Given the description of an element on the screen output the (x, y) to click on. 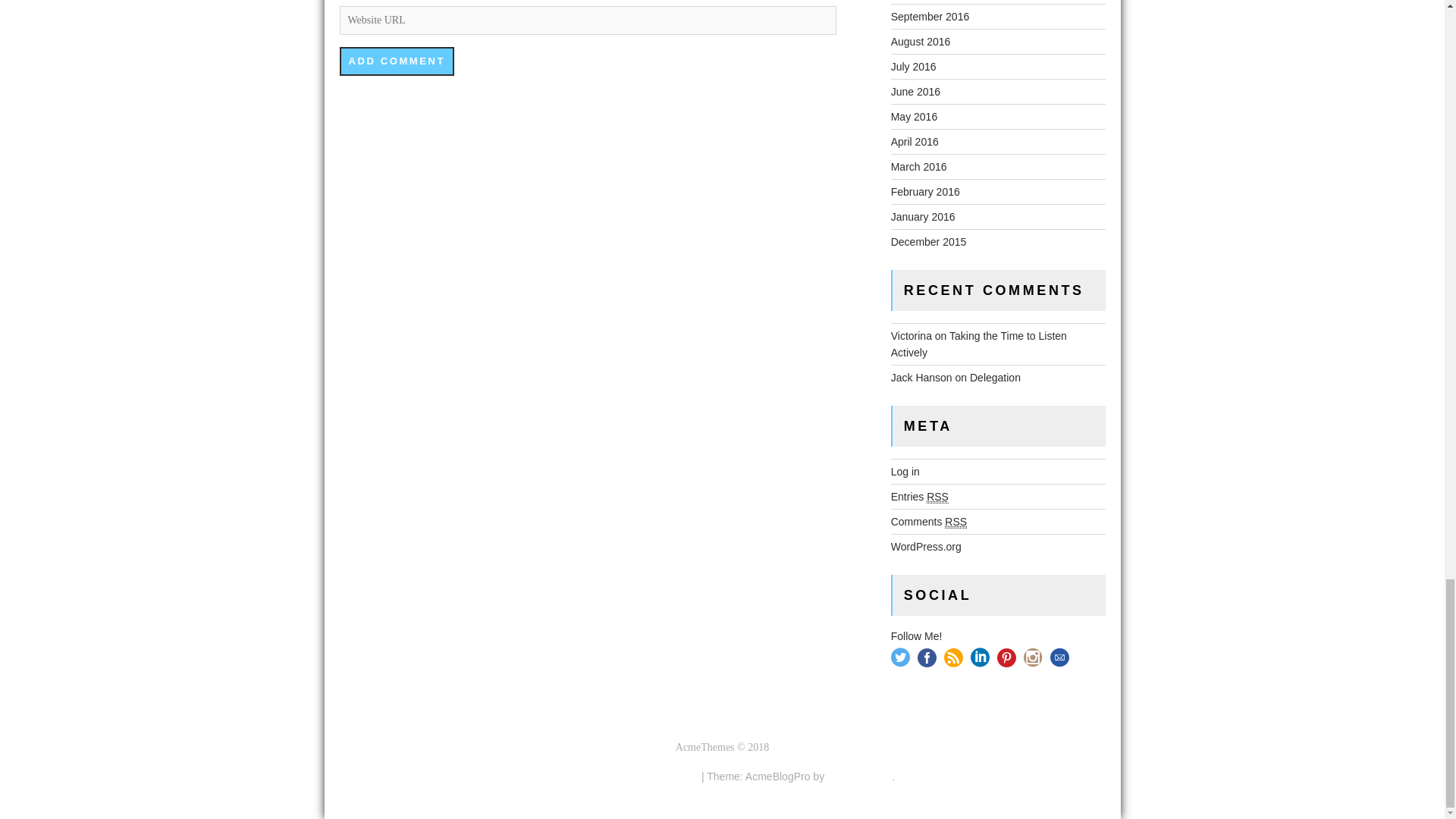
Add Comment (396, 61)
Add Comment (396, 61)
Really Simple Syndication (955, 521)
Really Simple Syndication (937, 496)
